Given the description of an element on the screen output the (x, y) to click on. 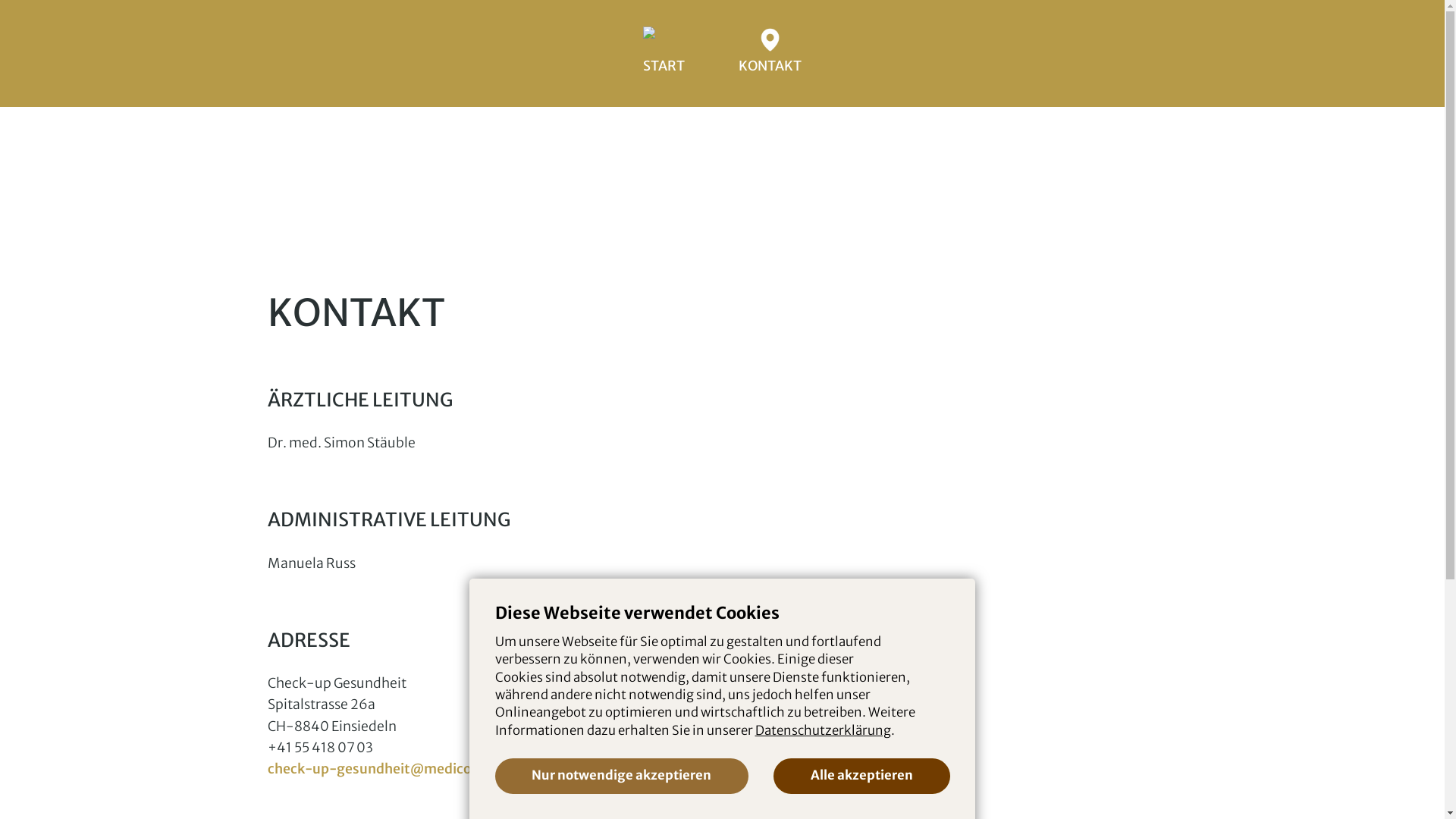
START Element type: text (663, 53)
KONTAKT Element type: text (769, 53)
0 Element type: text (409, 199)
Alle akzeptieren Element type: text (861, 775)
Nur notwendige akzeptieren Element type: text (620, 775)
check-up-gesundheit@medicoplus.ch Element type: text (391, 768)
